Given the description of an element on the screen output the (x, y) to click on. 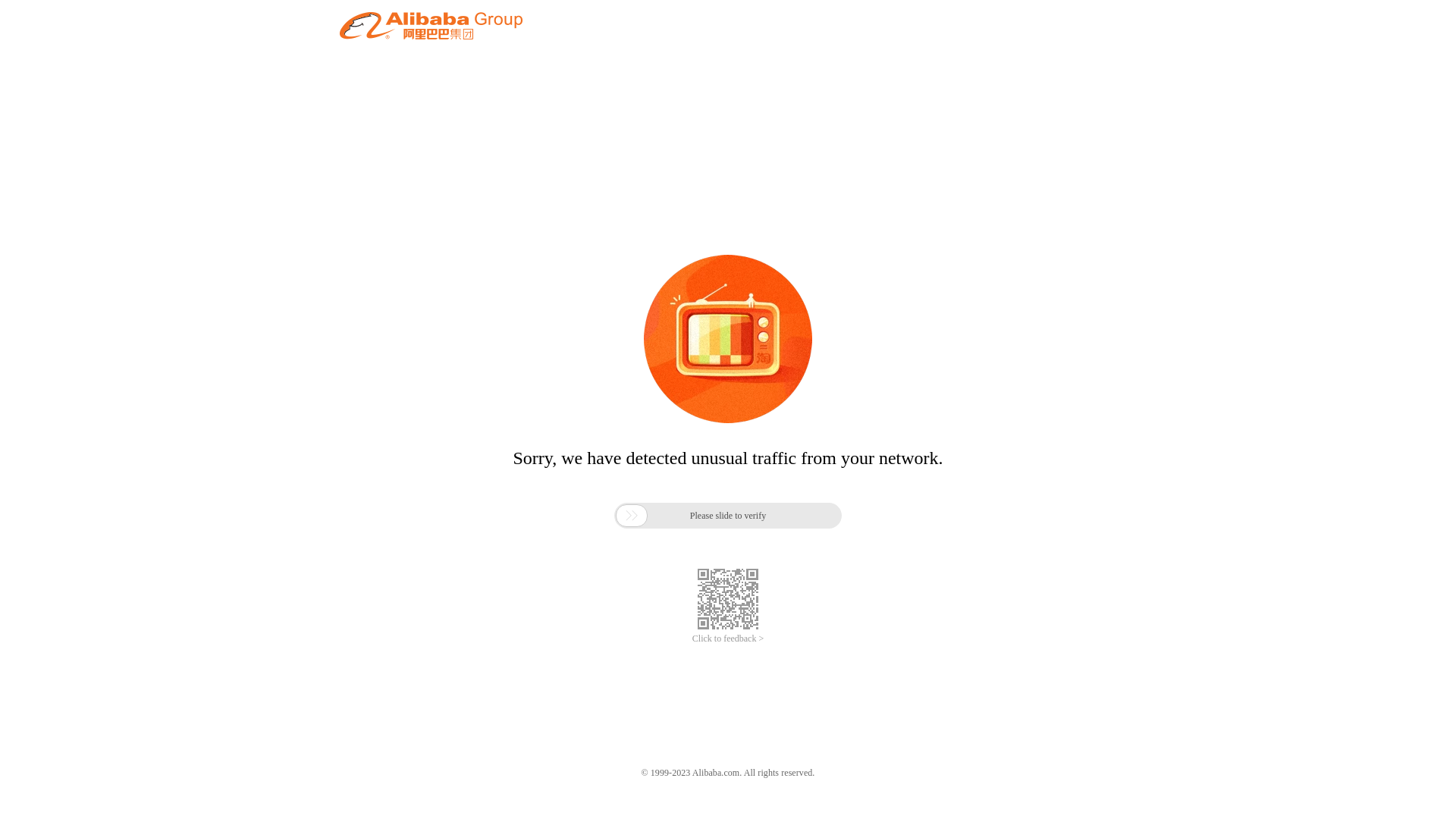
Click to feedback > Element type: text (727, 638)
